Given the description of an element on the screen output the (x, y) to click on. 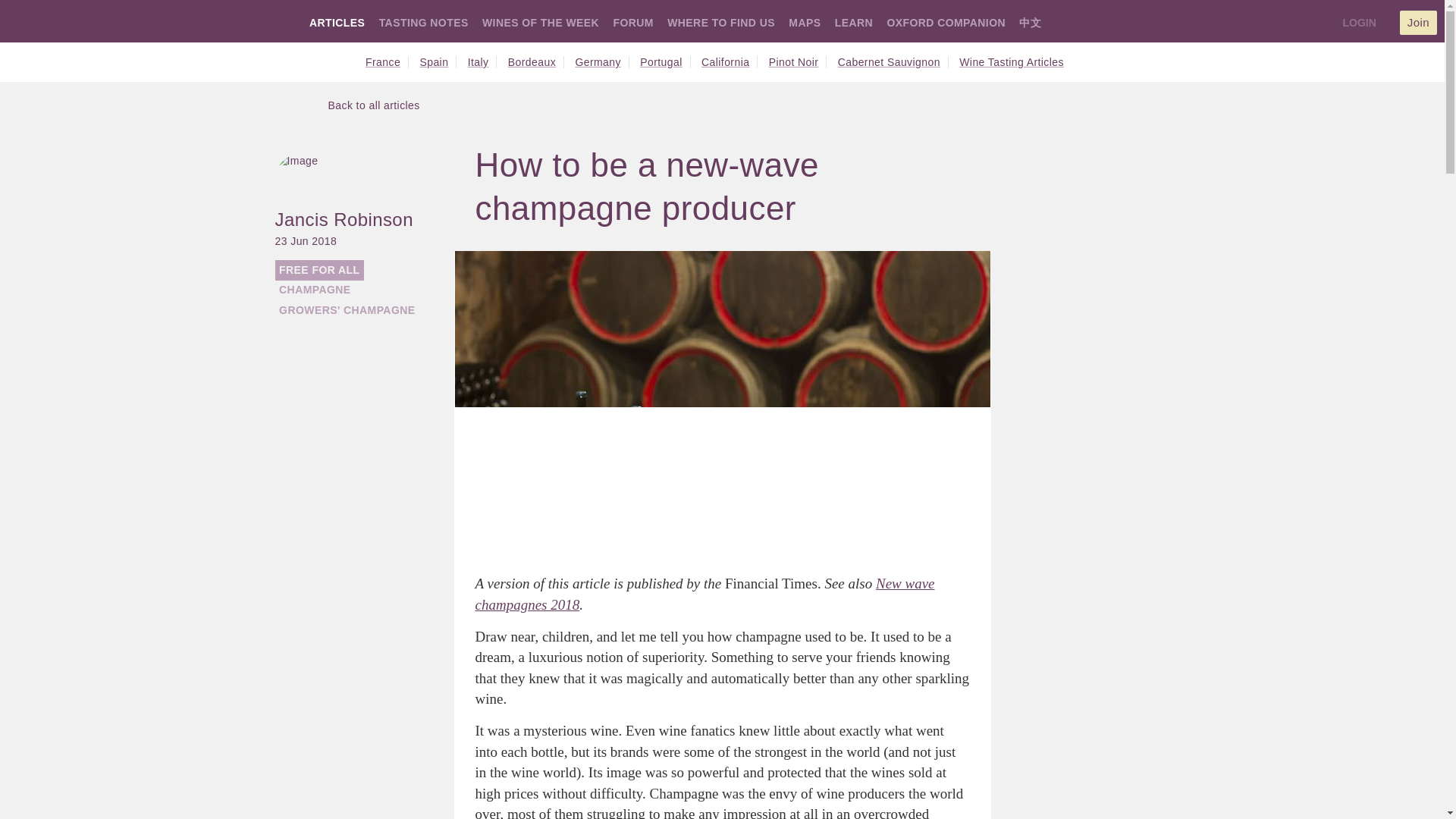
WINES OF THE WEEK (539, 22)
JancisRobinson.com Learning (853, 22)
FORUM (632, 22)
MAPS (805, 22)
Italy (482, 61)
Spanish Wine Articles (438, 61)
Pinot Noir (797, 61)
FREE FOR ALL (319, 270)
Portugal (665, 61)
Cabernet Sauvignon Articles (893, 61)
